Given the description of an element on the screen output the (x, y) to click on. 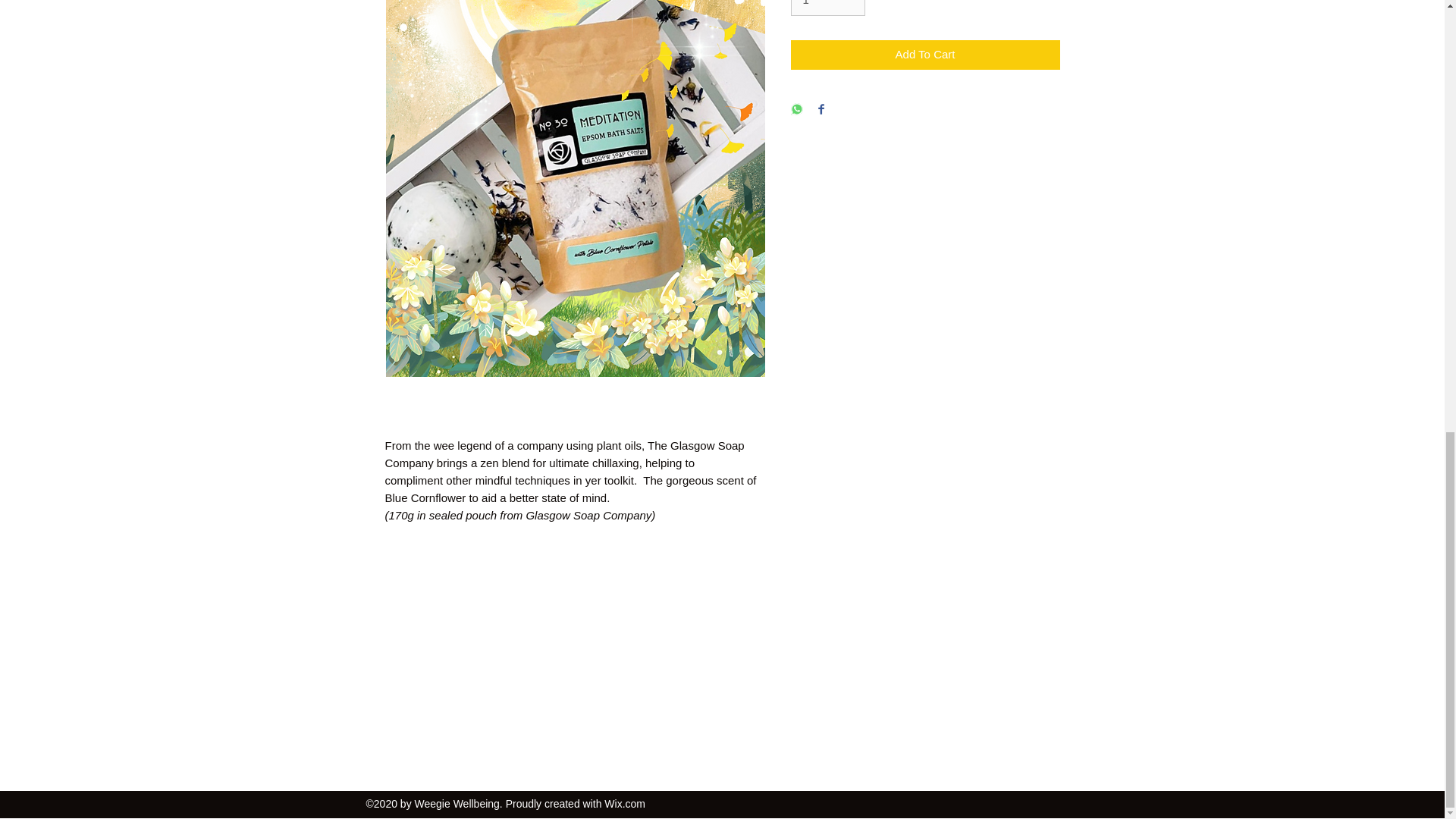
Add To Cart (924, 54)
1 (827, 8)
